Given the description of an element on the screen output the (x, y) to click on. 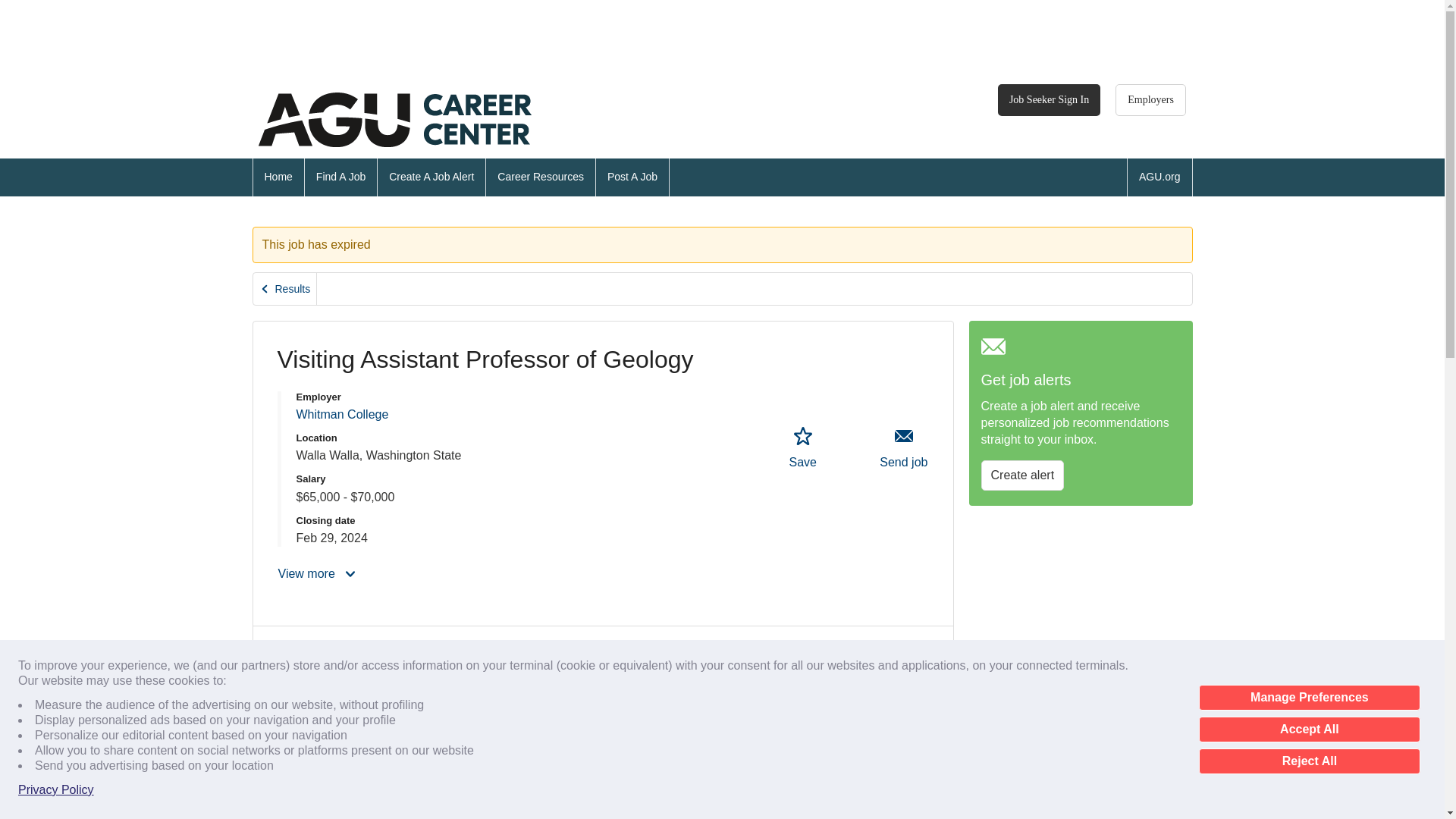
Job Seeker Sign In (1048, 100)
Find A Job (340, 177)
Results (285, 288)
Career Resources (540, 177)
Accept All (1309, 729)
Manage Preferences (1309, 697)
View more (318, 574)
Employers (1150, 100)
Privacy Policy (55, 789)
Home (276, 177)
AGU Career Center (395, 119)
Job Details (316, 654)
Post A Job (631, 177)
Whitman College (341, 413)
Reject All (1309, 760)
